Given the description of an element on the screen output the (x, y) to click on. 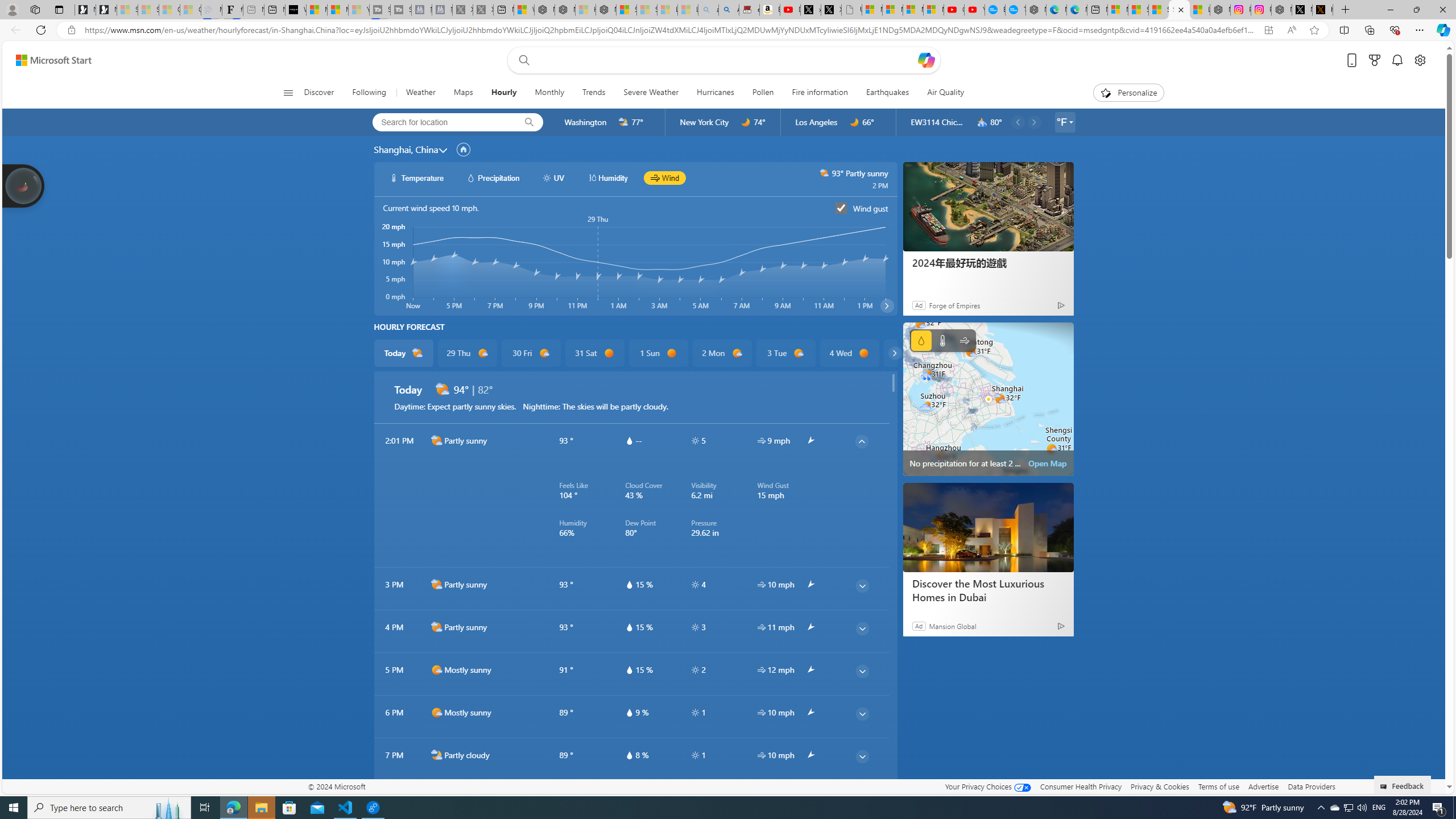
hourlyChart/precipitationWhite Precipitation (493, 178)
Nordace (@NordaceOfficial) / X (1302, 9)
Day 1: Arriving in Yemen (surreal to be here) - YouTube (789, 9)
Shanghai, China hourly forecast | Microsoft Weather (1178, 9)
29 Thu d1000 (466, 352)
hourlyChart/humidityWhite Humidity (606, 178)
Discover the Most Luxurious Homes in Dubai (987, 590)
Open settings (1420, 60)
